Given the description of an element on the screen output the (x, y) to click on. 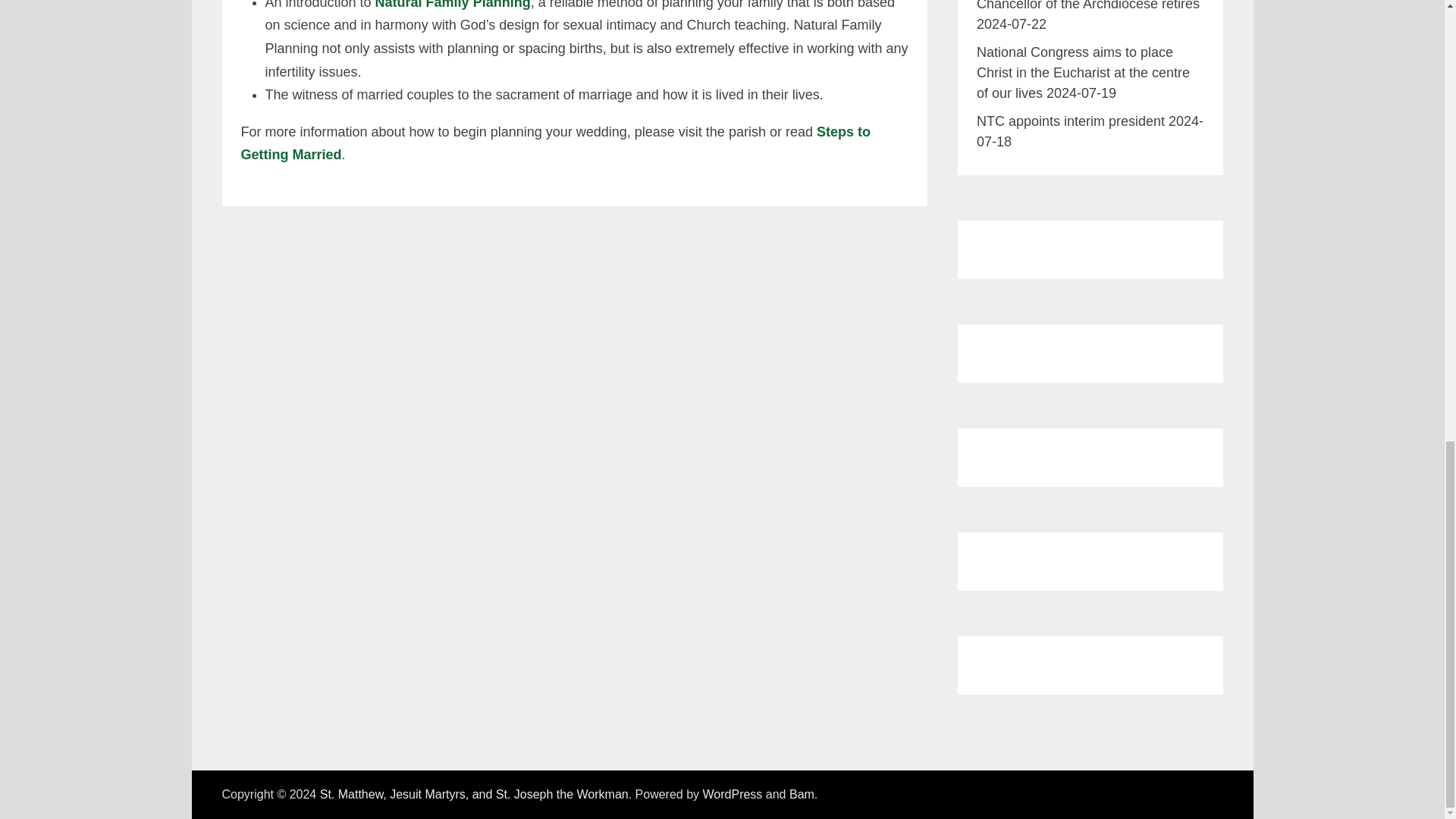
St. Matthew, Jesuit Martyrs, and St. Joseph the Workman (474, 793)
